Given the description of an element on the screen output the (x, y) to click on. 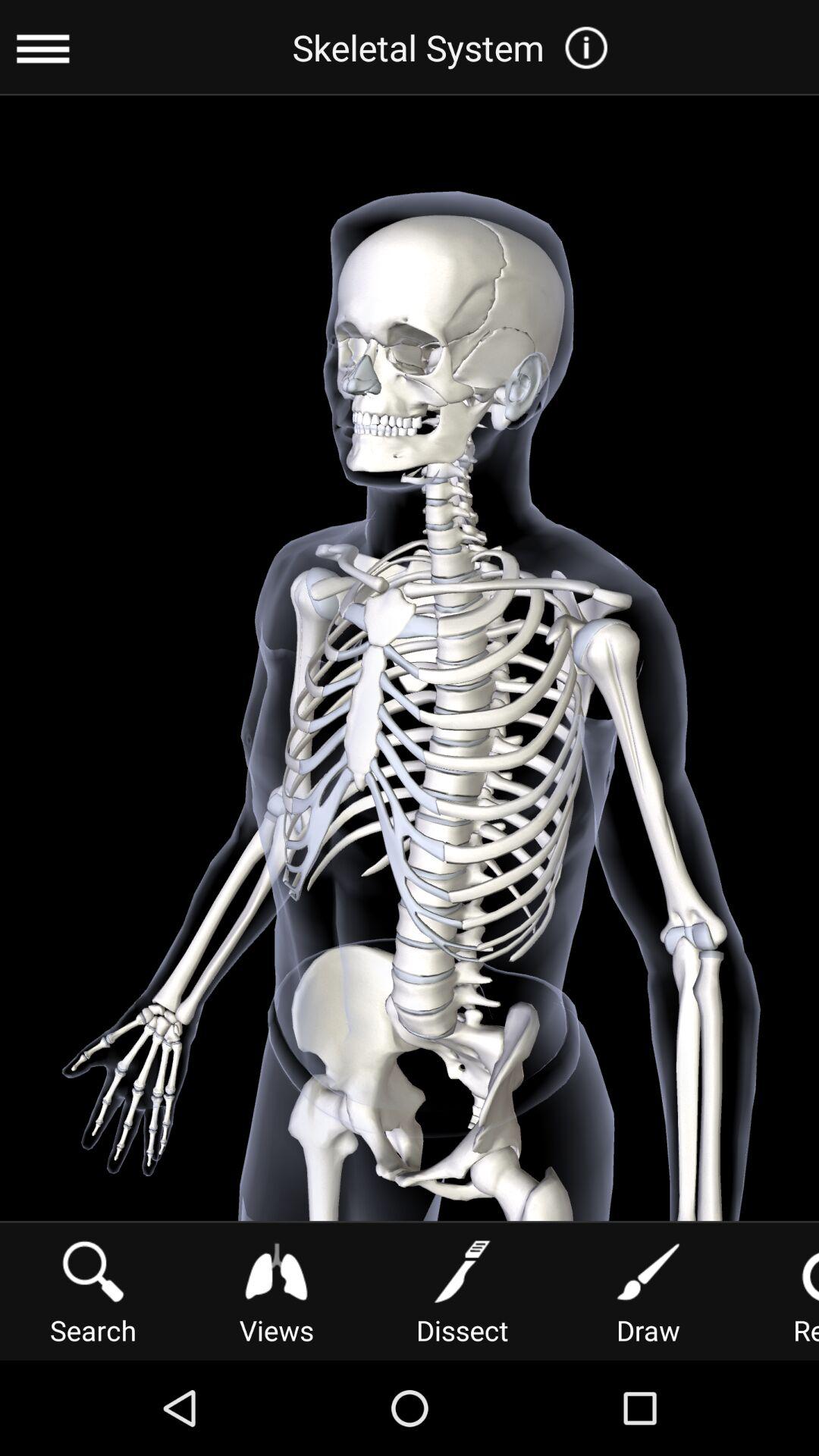
tap the search button (93, 1290)
